Given the description of an element on the screen output the (x, y) to click on. 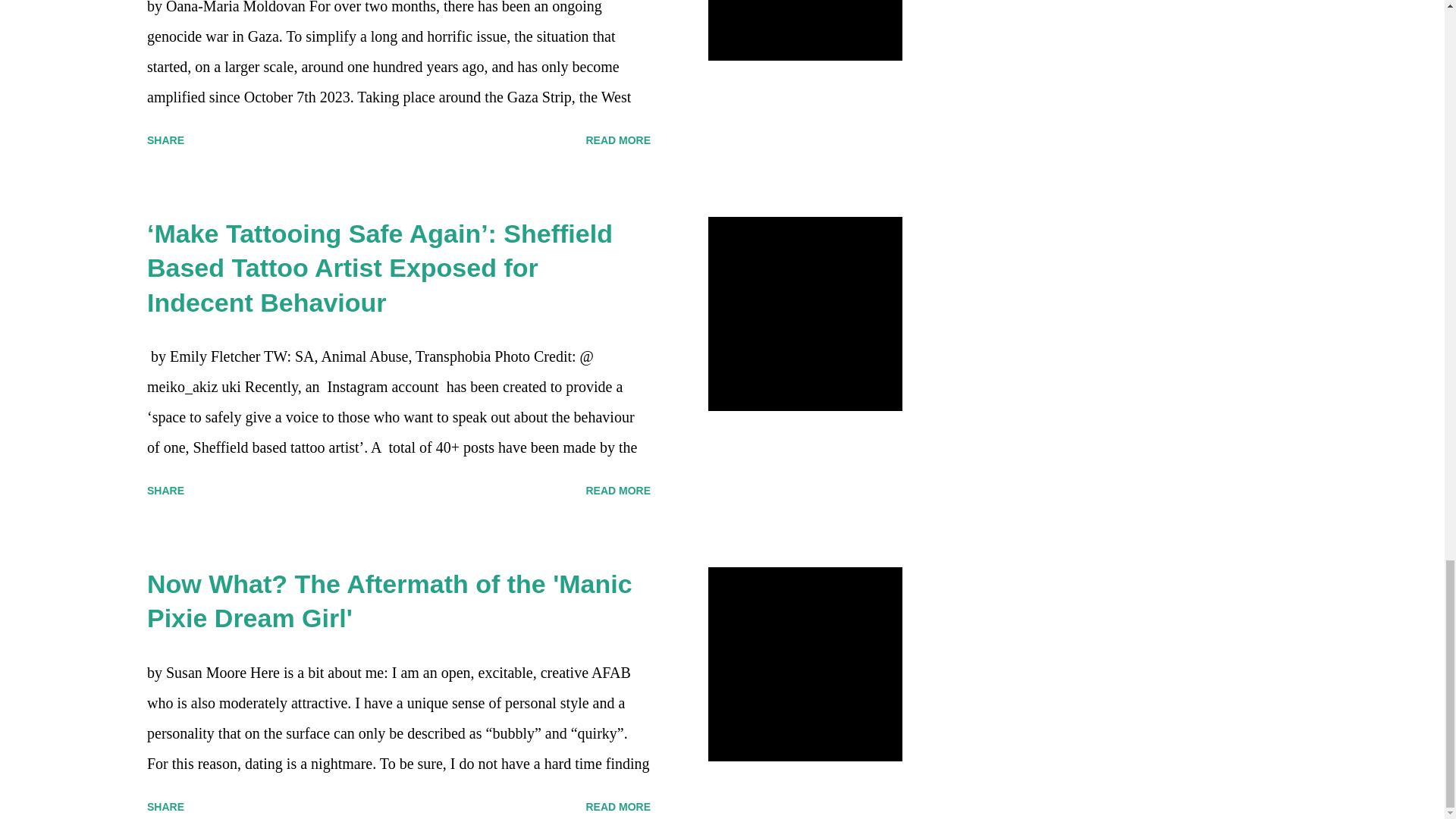
SHARE (165, 139)
READ MORE (617, 139)
Now What? The Aftermath of the 'Manic Pixie Dream Girl' (389, 600)
SHARE (165, 490)
READ MORE (617, 490)
